Given the description of an element on the screen output the (x, y) to click on. 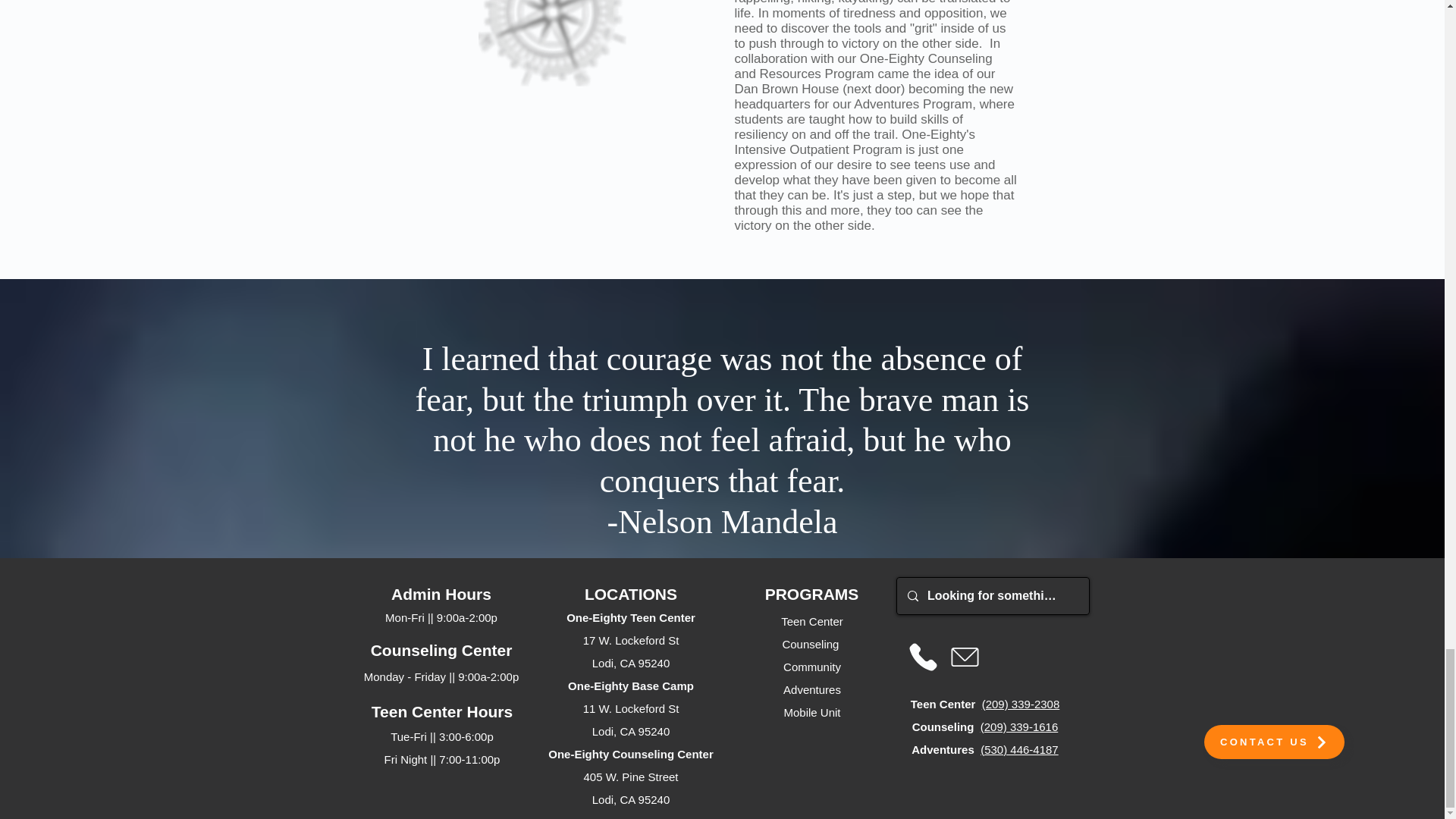
Mobile Unit (811, 712)
Community (812, 666)
Teen Center (811, 621)
Counseling  (811, 644)
Adventures (812, 689)
